Given the description of an element on the screen output the (x, y) to click on. 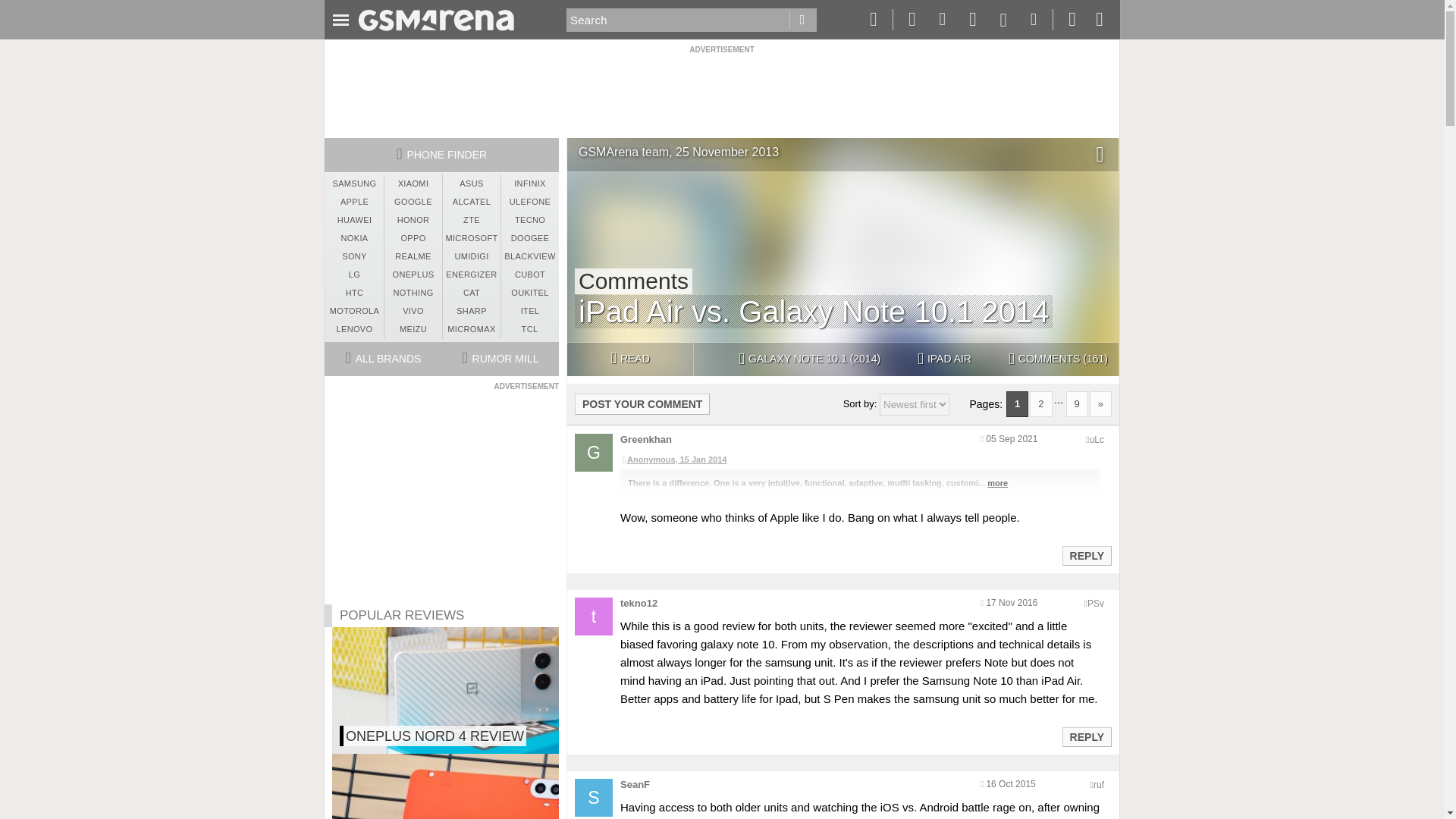
Go (802, 19)
2 (1040, 403)
Next page (1100, 403)
Encoded anonymized location (1098, 784)
9 (1076, 403)
Encoded anonymized location (1095, 603)
Encoded anonymized location (1096, 439)
Sort comments by (914, 404)
Anonymous, 15 Jan 2014 (859, 459)
Go (802, 19)
Reply to this post (1086, 736)
Reply to this post (1086, 555)
READ (630, 359)
IPAD AIR (944, 359)
POST YOUR COMMENT (642, 403)
